Given the description of an element on the screen output the (x, y) to click on. 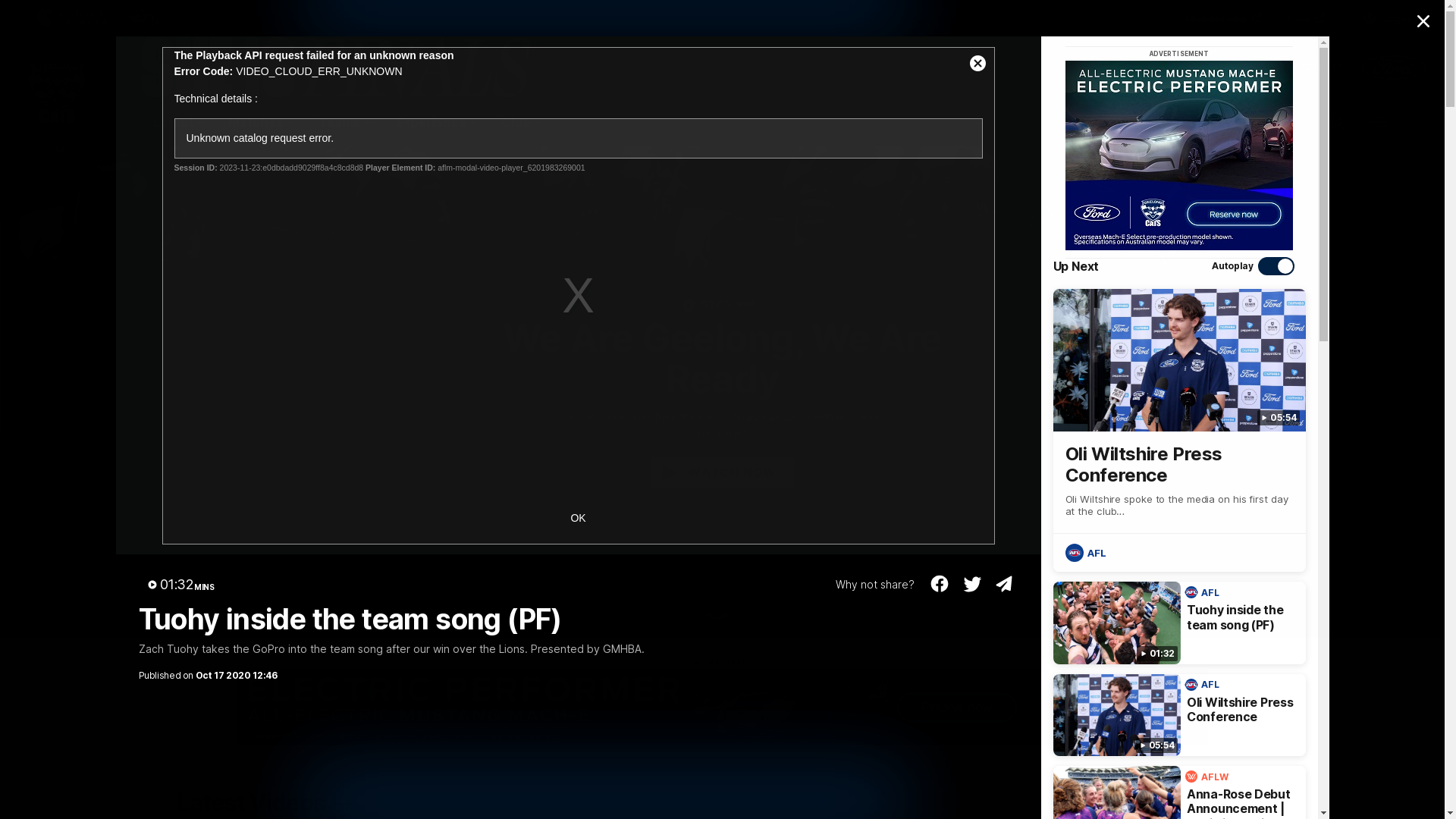
Membership Element type: text (1221, 18)
Teams Element type: text (343, 121)
OK Element type: text (577, 518)
Latest Videos Element type: text (266, 802)
Login Element type: text (1386, 18)
AFL Element type: text (1086, 552)
Latest Element type: text (176, 121)
Matches Element type: text (259, 121)
Shop Element type: text (1303, 18)
CREATED BY
TELSTRA Element type: text (66, 18)
Menu Element type: text (1377, 121)
AFL Element type: text (1204, 684)
Close Element type: text (1423, 21)
3rd party ad content Element type: hover (1178, 155)
3rd party ad content Element type: hover (721, 706)
Experience Element type: text (434, 121)
AFL Element type: text (1204, 592)
Ford Element type: text (1226, 803)
AFLW Element type: text (1208, 776)
Club Element type: text (519, 121)
Club Logo Element type: text (57, 121)
Close Modal Dialog Element type: text (977, 63)
